Given the description of an element on the screen output the (x, y) to click on. 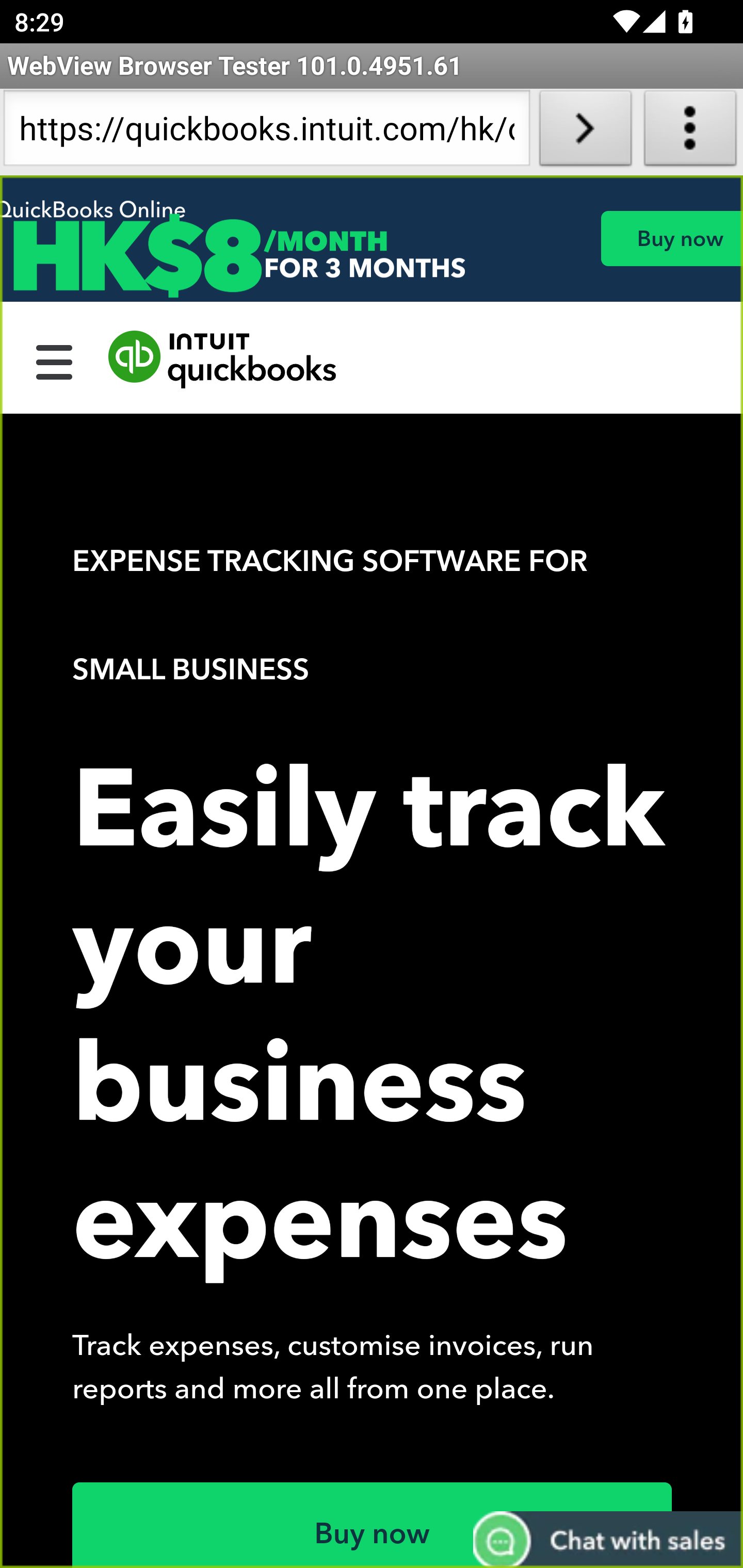
Load URL (585, 132)
About WebView (690, 132)
Buy now (671, 238)
quickbooks-mobile-burger (54, 359)
quickbooks (222, 359)
Buy now (372, 1524)
